Given the description of an element on the screen output the (x, y) to click on. 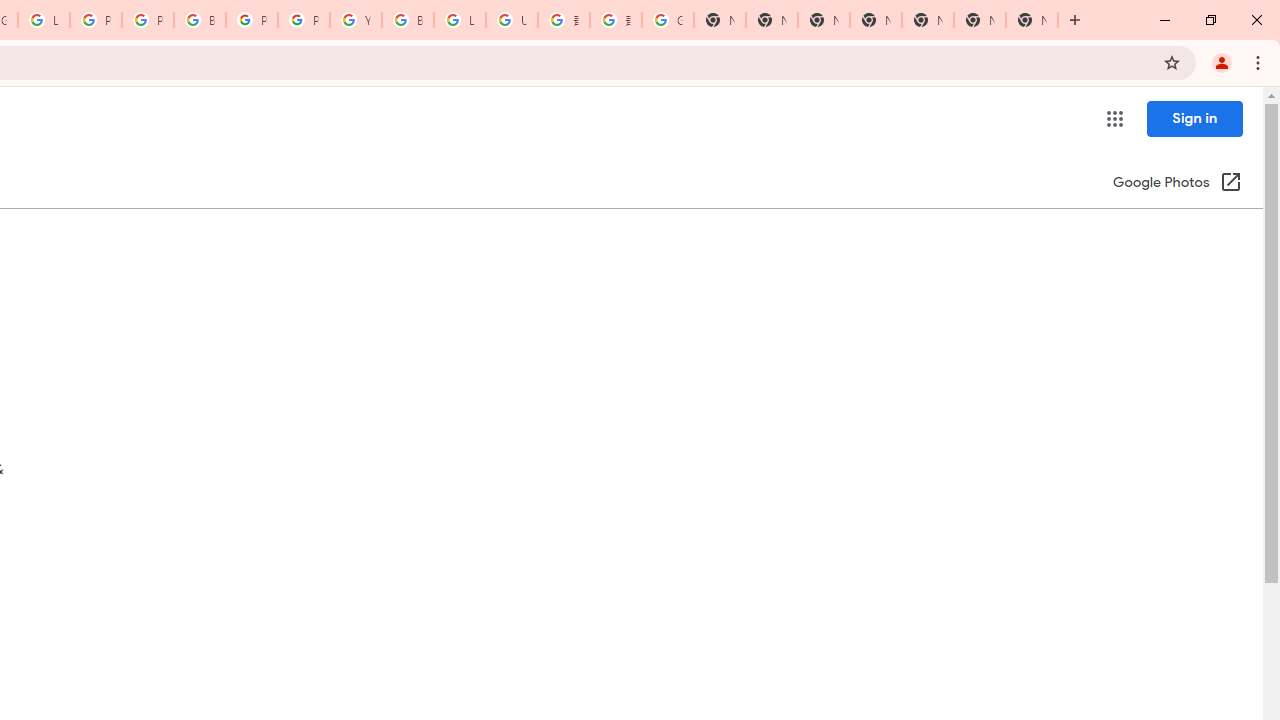
Google Photos (Open in a new window) (1177, 183)
New Tab (875, 20)
